Given the description of an element on the screen output the (x, y) to click on. 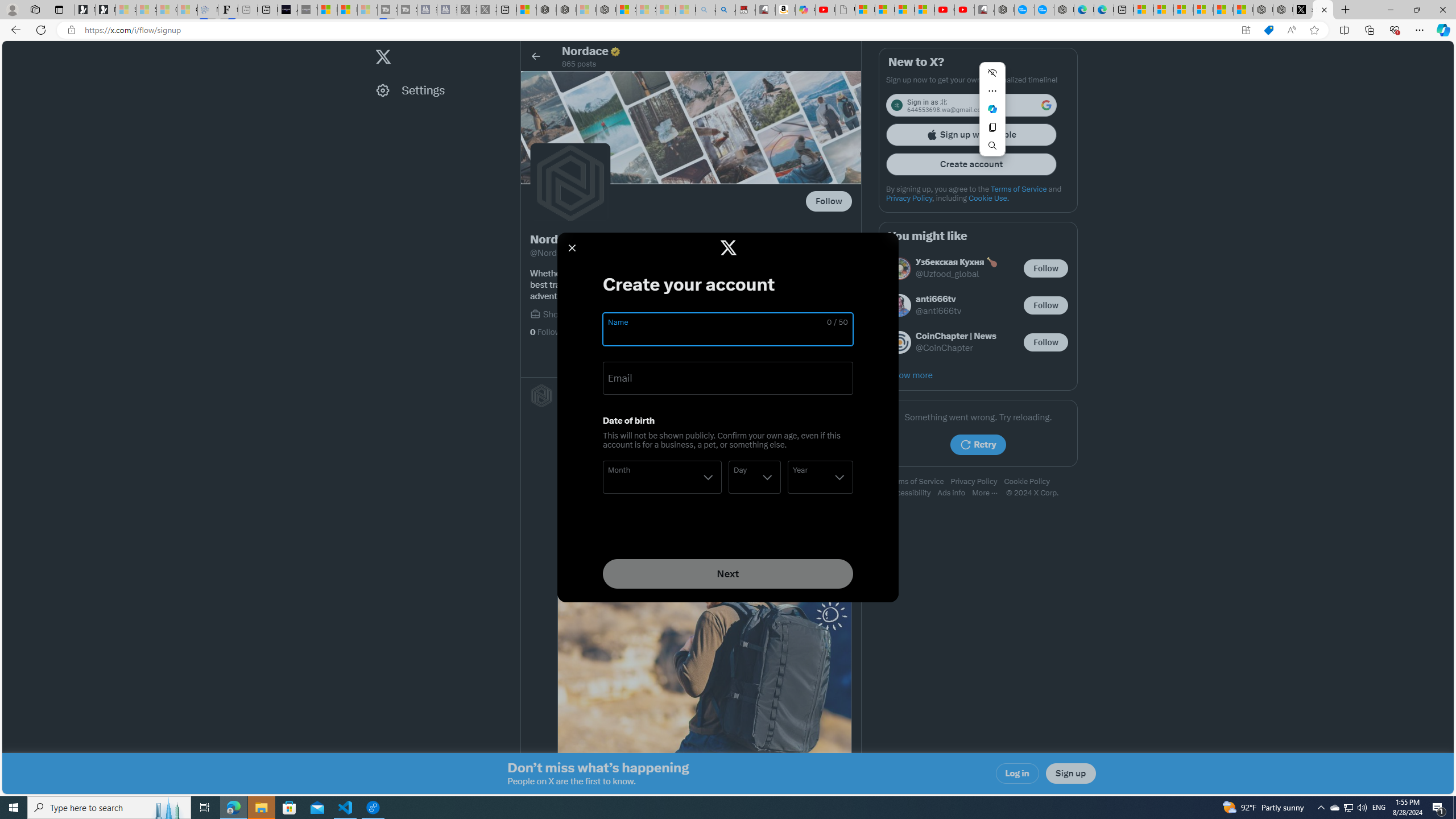
Nordace - My Account (1004, 9)
Copy (991, 126)
Mini menu on text selection (992, 116)
More actions (991, 90)
Copilot (804, 9)
Untitled (844, 9)
